Given the description of an element on the screen output the (x, y) to click on. 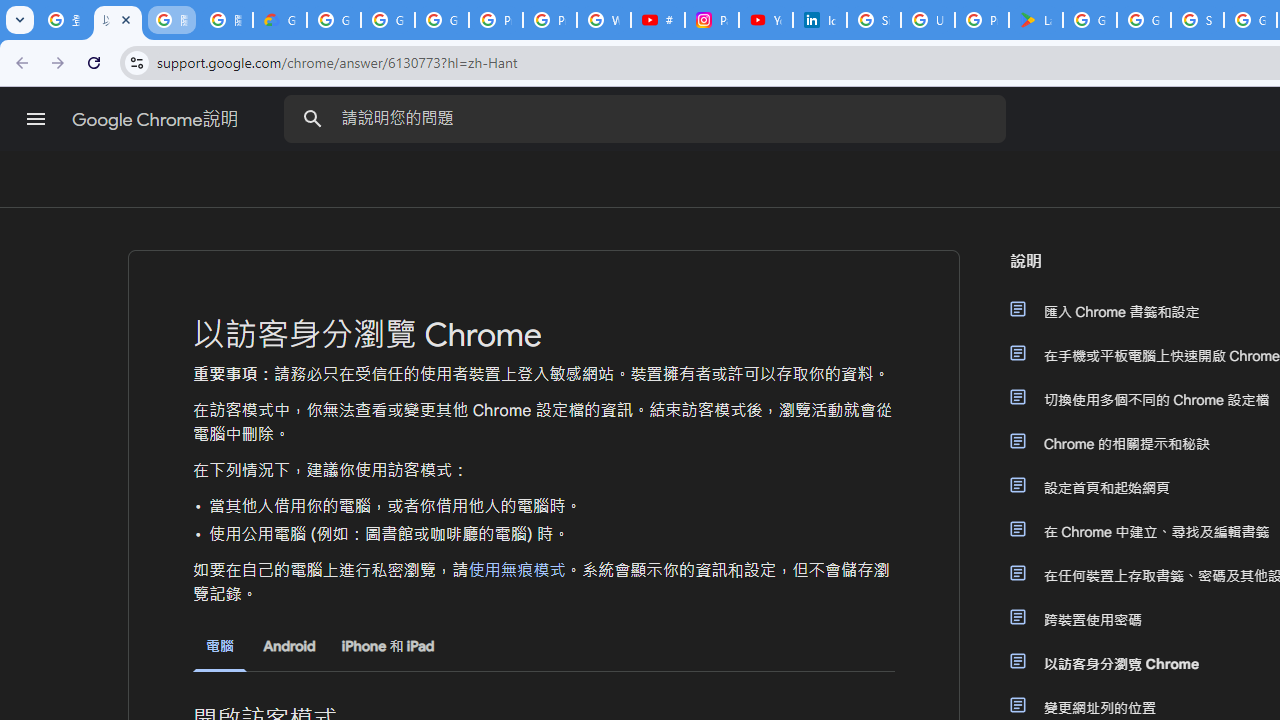
YouTube Culture & Trends - On The Rise: Handcam Videos (765, 20)
Sign in - Google Accounts (1197, 20)
Sign in - Google Accounts (874, 20)
